Given the description of an element on the screen output the (x, y) to click on. 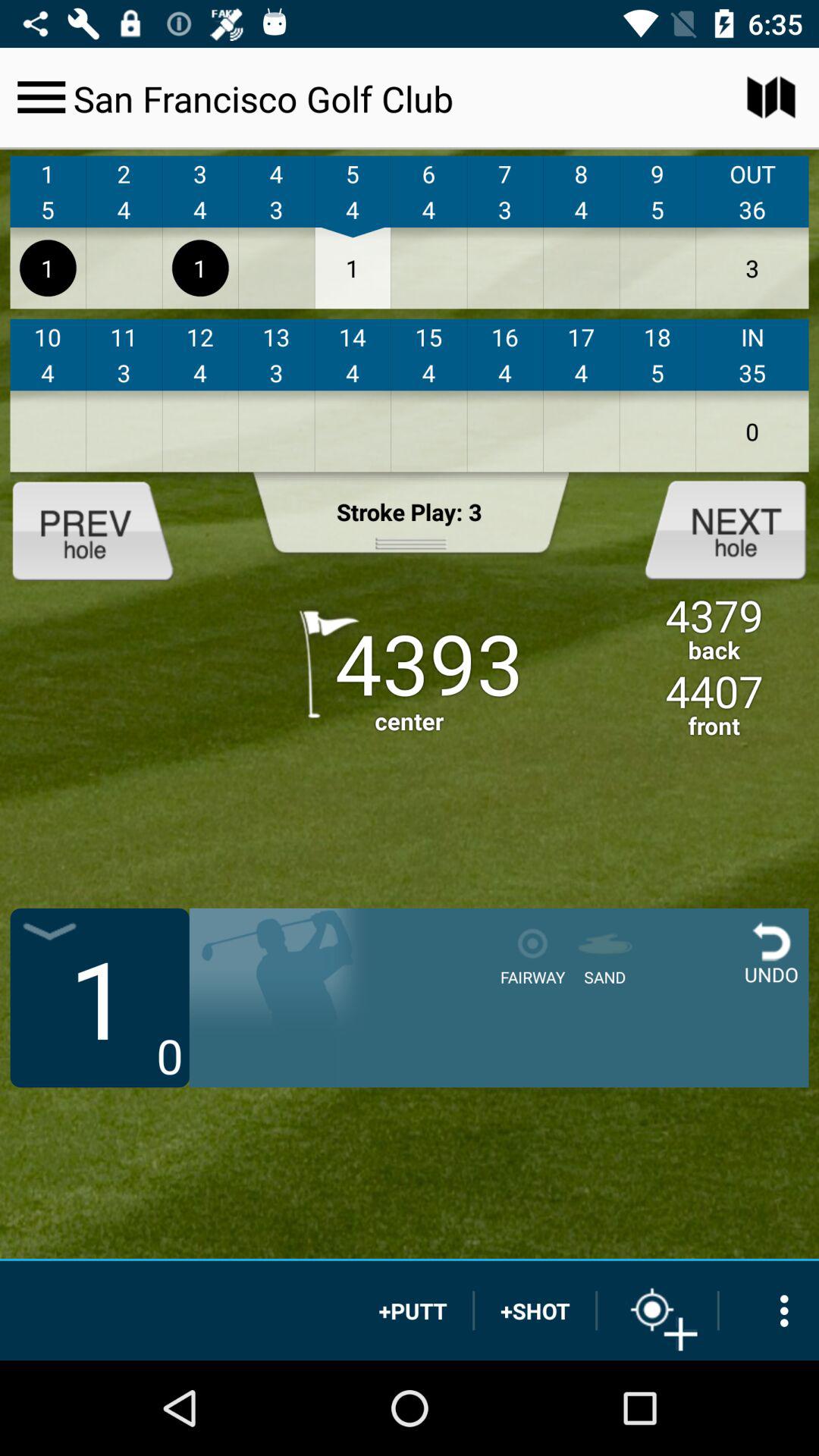
click to prev hole (105, 528)
